Given the description of an element on the screen output the (x, y) to click on. 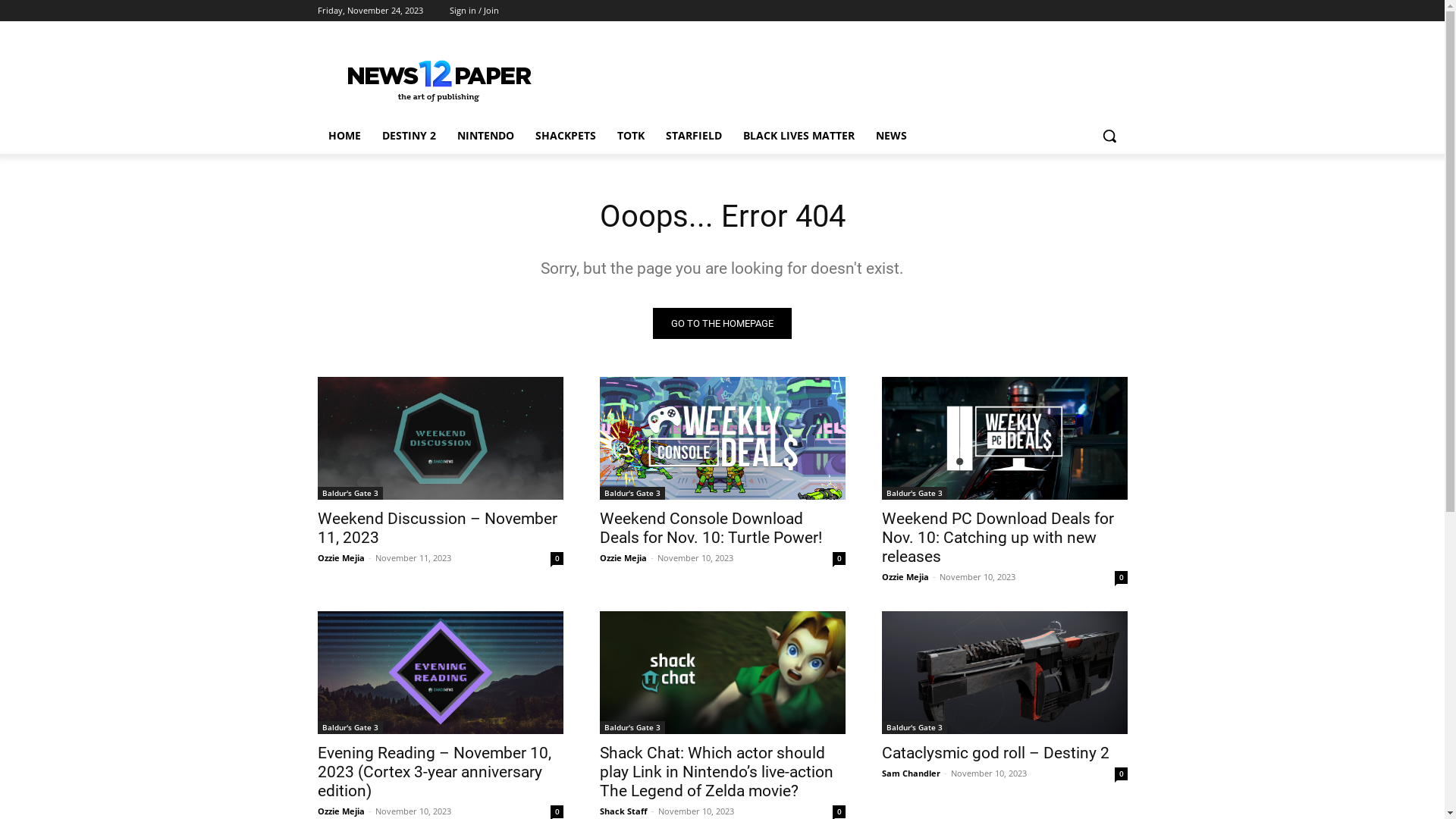
0 Element type: text (1120, 577)
Sam Chandler Element type: text (910, 772)
0 Element type: text (556, 558)
TOTK Element type: text (630, 135)
HOME Element type: text (343, 135)
SHACKPETS Element type: text (565, 135)
0 Element type: text (838, 811)
Baldur's Gate 3 Element type: text (349, 492)
Weekend Console Download Deals for Nov. 10: Turtle Power! Element type: text (710, 527)
Ozzie Mejia Element type: text (904, 576)
0 Element type: text (556, 811)
Baldur's Gate 3 Element type: text (913, 727)
NINTENDO Element type: text (484, 135)
STARFIELD Element type: text (693, 135)
BLACK LIVES MATTER Element type: text (798, 135)
DESTINY 2 Element type: text (408, 135)
Baldur's Gate 3 Element type: text (631, 727)
Baldur's Gate 3 Element type: text (631, 492)
Ozzie Mejia Element type: text (340, 810)
Baldur's Gate 3 Element type: text (349, 727)
0 Element type: text (1120, 773)
Ozzie Mejia Element type: text (340, 557)
Ozzie Mejia Element type: text (622, 557)
GO TO THE HOMEPAGE Element type: text (721, 322)
NEWS Element type: text (890, 135)
0 Element type: text (838, 558)
Sign in / Join Element type: text (473, 10)
Shack Staff Element type: text (622, 810)
Weekend Console Download Deals for Nov. 10: Turtle Power! Element type: hover (721, 437)
Baldur's Gate 3 Element type: text (913, 492)
